Given the description of an element on the screen output the (x, y) to click on. 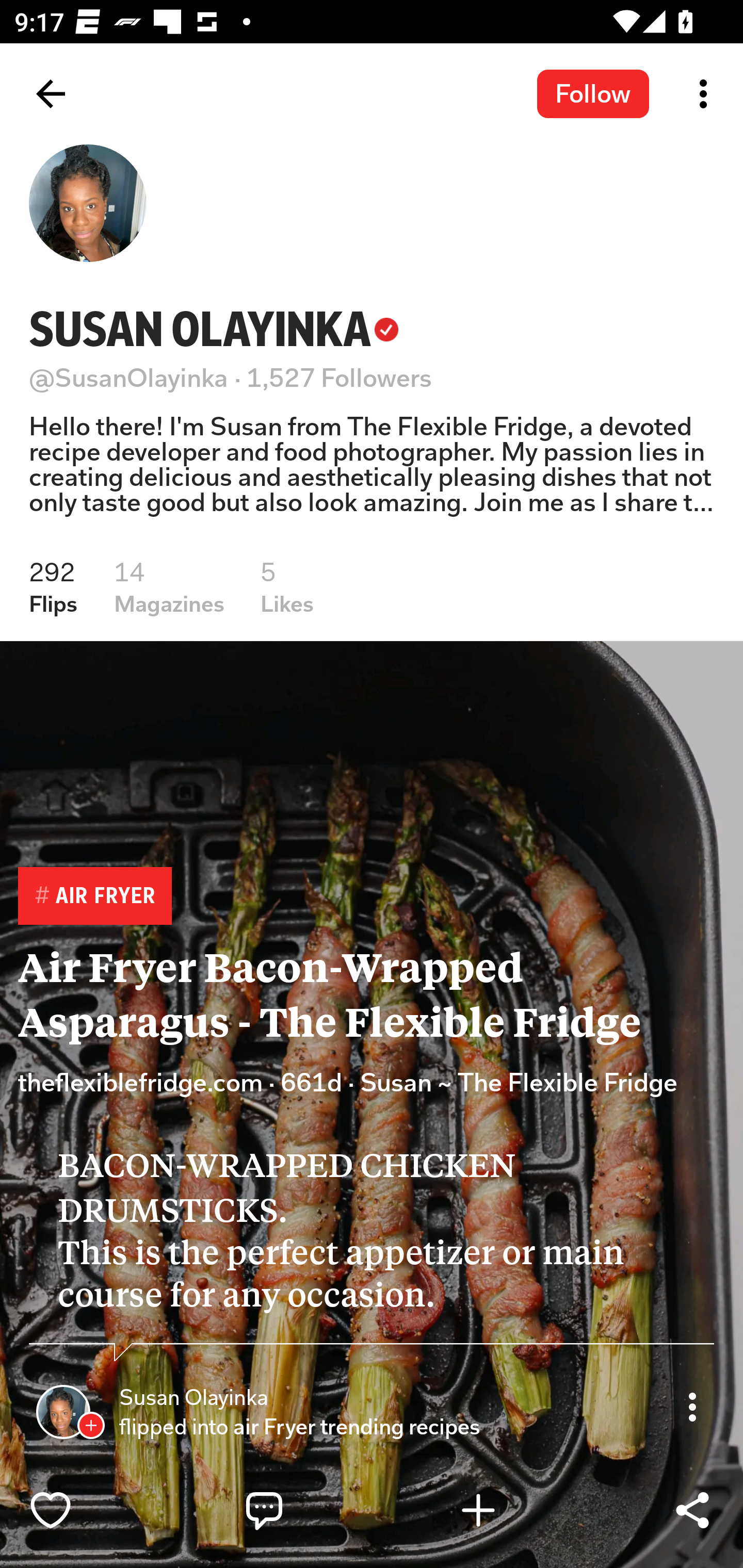
Back (50, 93)
More options (706, 93)
Follow (593, 92)
SUSAN OLAYINKA (213, 328)
@SusanOlayinka (128, 377)
1,527 Followers (339, 377)
292 Flips (53, 587)
14 Magazines (168, 587)
5 Likes (287, 587)
# AIR FRYER (94, 896)
More (692, 1406)
Susan Olayinka (193, 1397)
flipped into air Fryer trending recipes  (301, 1426)
Like (93, 1509)
Write a comment… (307, 1509)
Flip into Magazine (521, 1509)
Share (692, 1509)
